Given the description of an element on the screen output the (x, y) to click on. 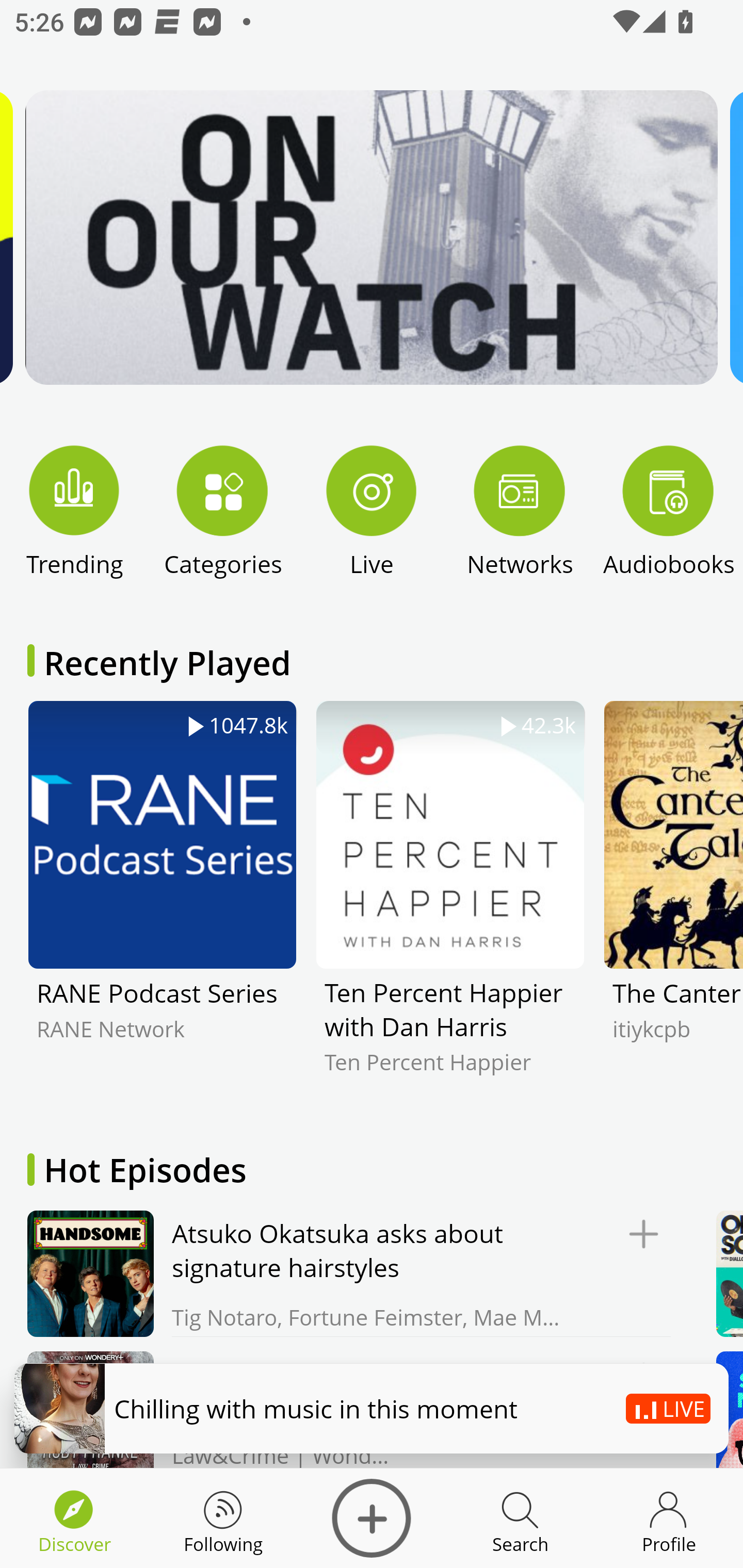
1047.8k RANE Podcast Series RANE Network (162, 902)
The Canterbury Tales itiykcpb (673, 902)
Podbean Chilling with music in this moment LIVE (371, 1407)
Discover Following (222, 1518)
Discover (371, 1518)
Discover Search (519, 1518)
Discover Profile (668, 1518)
